Given the description of an element on the screen output the (x, y) to click on. 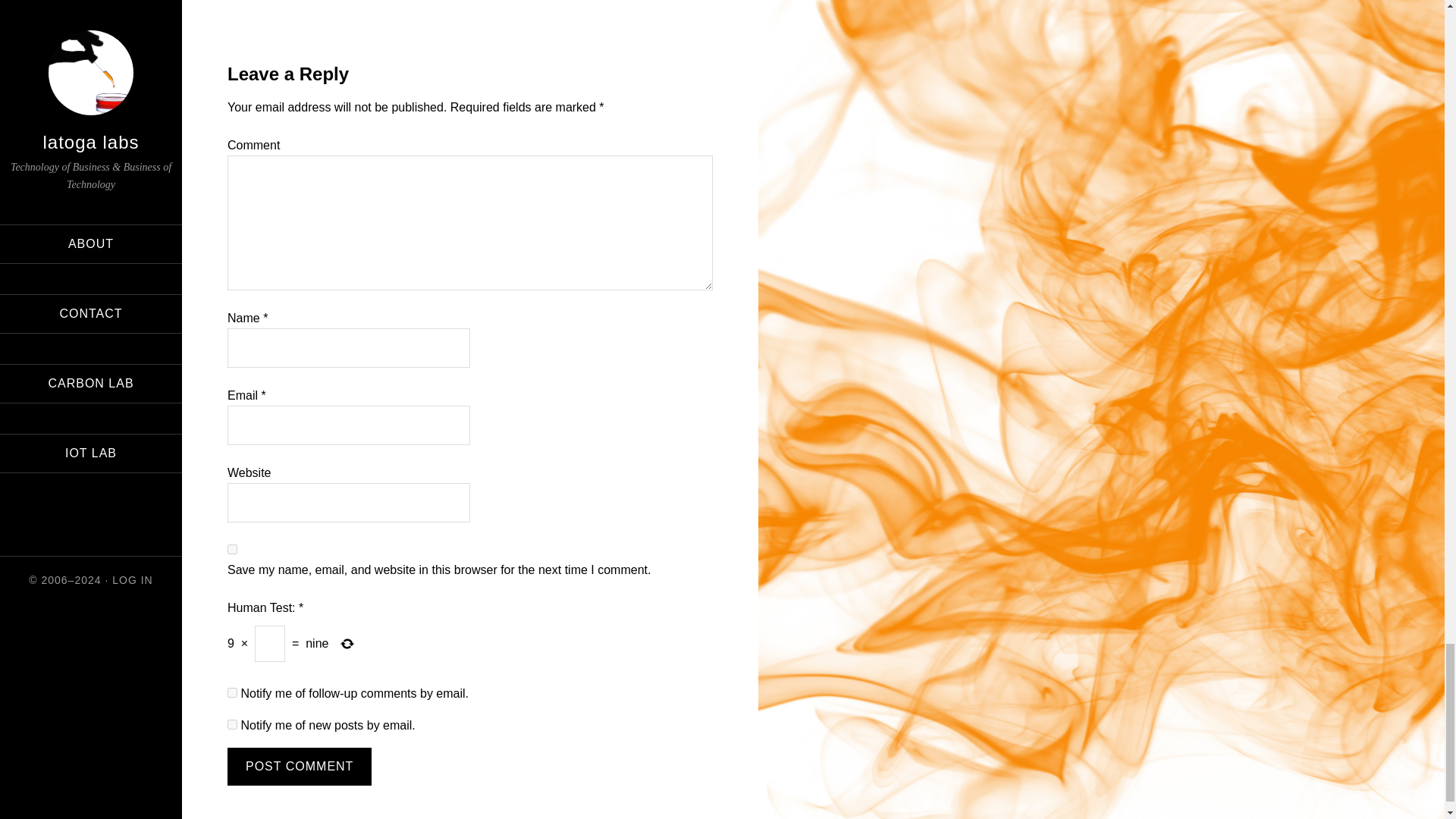
subscribe (232, 724)
Post Comment (299, 766)
subscribe (232, 692)
Post Comment (299, 766)
yes (232, 549)
